Given the description of an element on the screen output the (x, y) to click on. 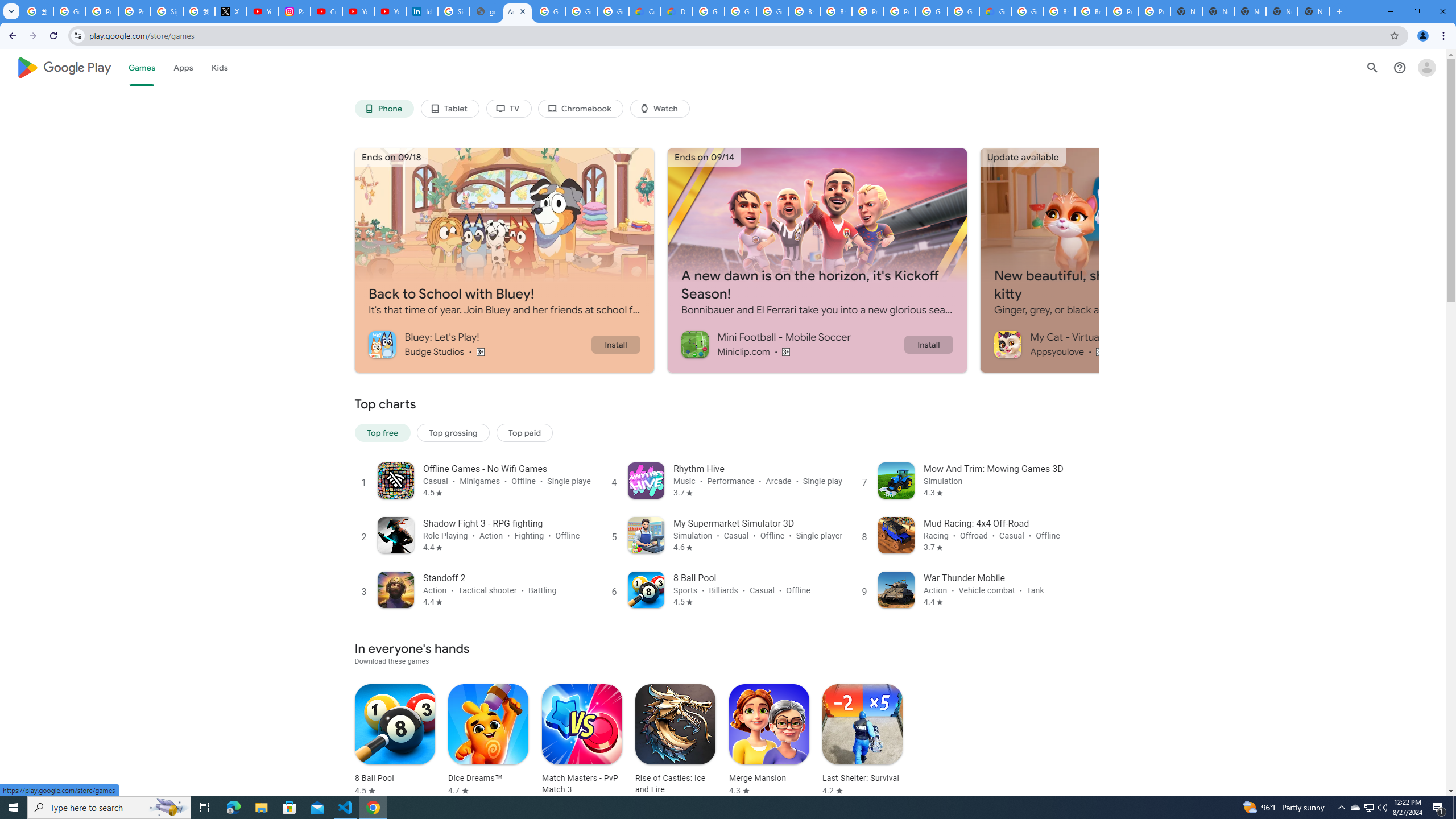
Privacy Help Center - Policies Help (134, 11)
Google Cloud Platform (931, 11)
Chromebook (581, 108)
Google Cloud Platform (708, 11)
Open account menu (1426, 67)
Content rating Rated for 3+ (1100, 351)
